Given the description of an element on the screen output the (x, y) to click on. 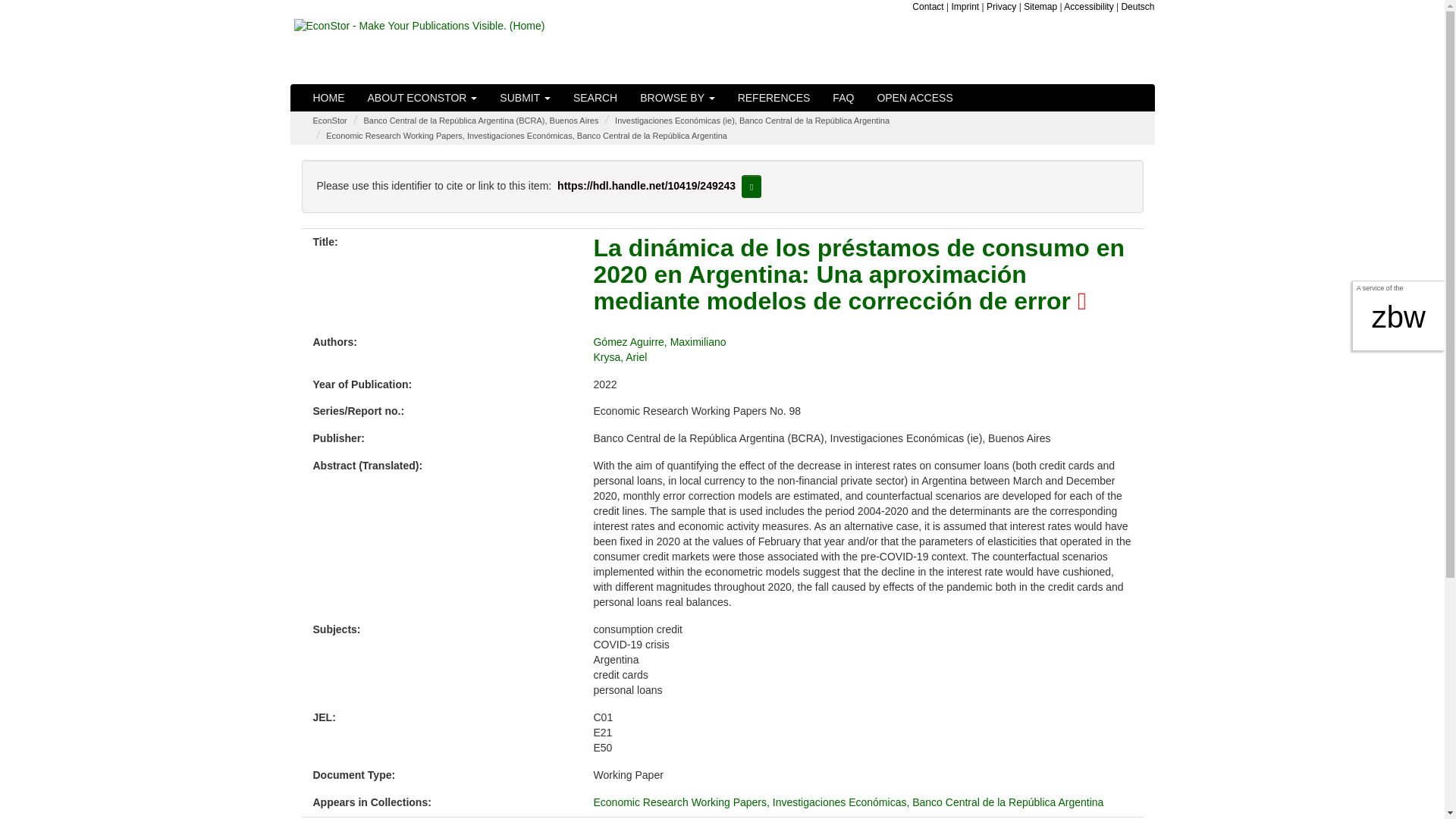
REFERENCES (774, 97)
Contact (927, 6)
EconStor (329, 120)
zbw (1398, 316)
Accessibility (1088, 6)
ABOUT ECONSTOR (422, 97)
Sitemap (1040, 6)
Imprint (964, 6)
BROWSE BY (676, 97)
Deutsch (1137, 6)
HOME (328, 97)
Privacy (1001, 6)
copy to clipboard (751, 186)
SEARCH (595, 97)
SUBMIT (524, 97)
